Given the description of an element on the screen output the (x, y) to click on. 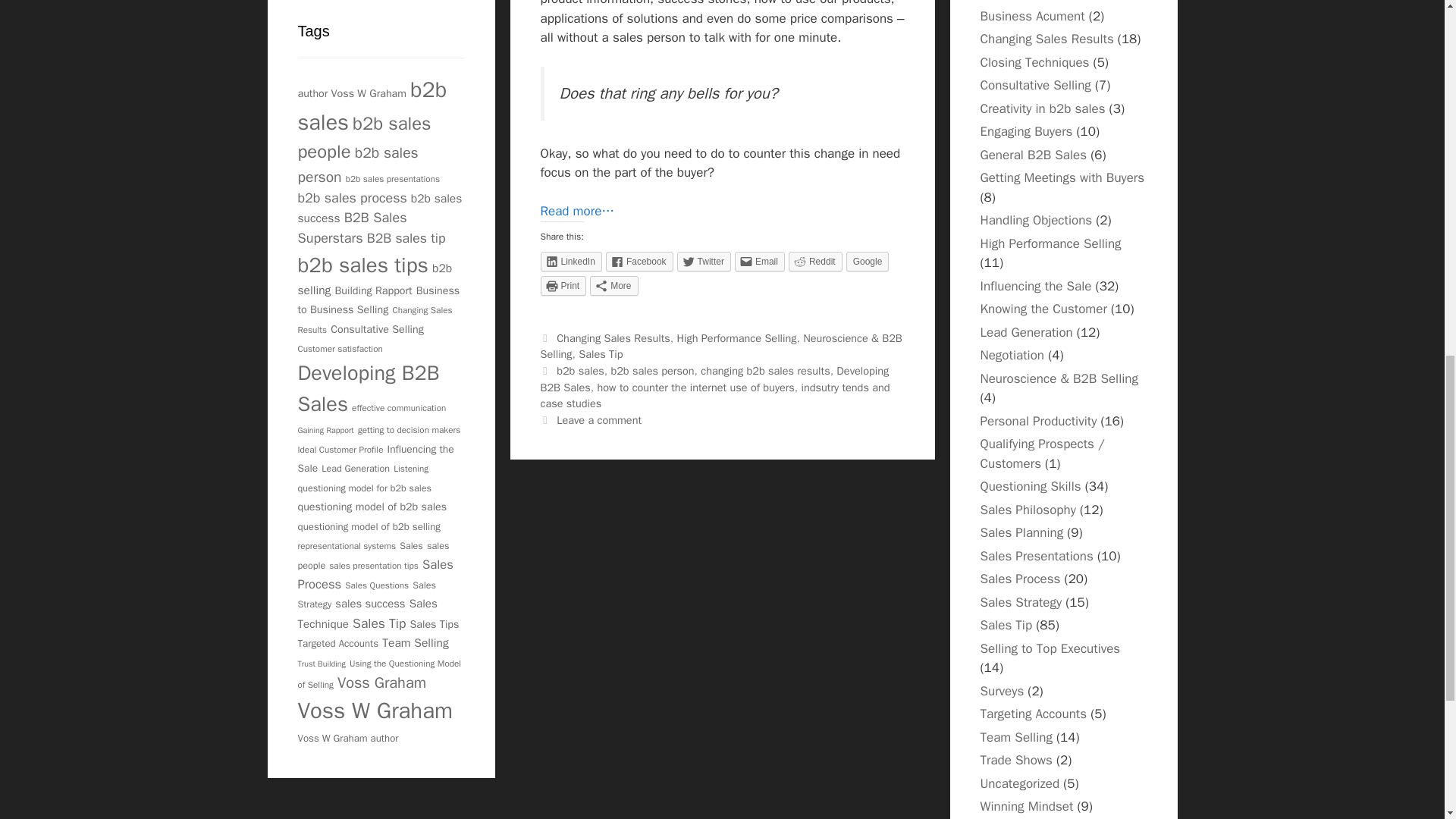
Changing Sales Results (612, 337)
Sales Tip (600, 354)
Click to share on LinkedIn (570, 261)
author Voss W Graham (351, 92)
b2b sales people (363, 137)
Twitter (703, 261)
changing b2b sales results (764, 370)
High Performance Selling (736, 337)
b2b sales (371, 105)
